Given the description of an element on the screen output the (x, y) to click on. 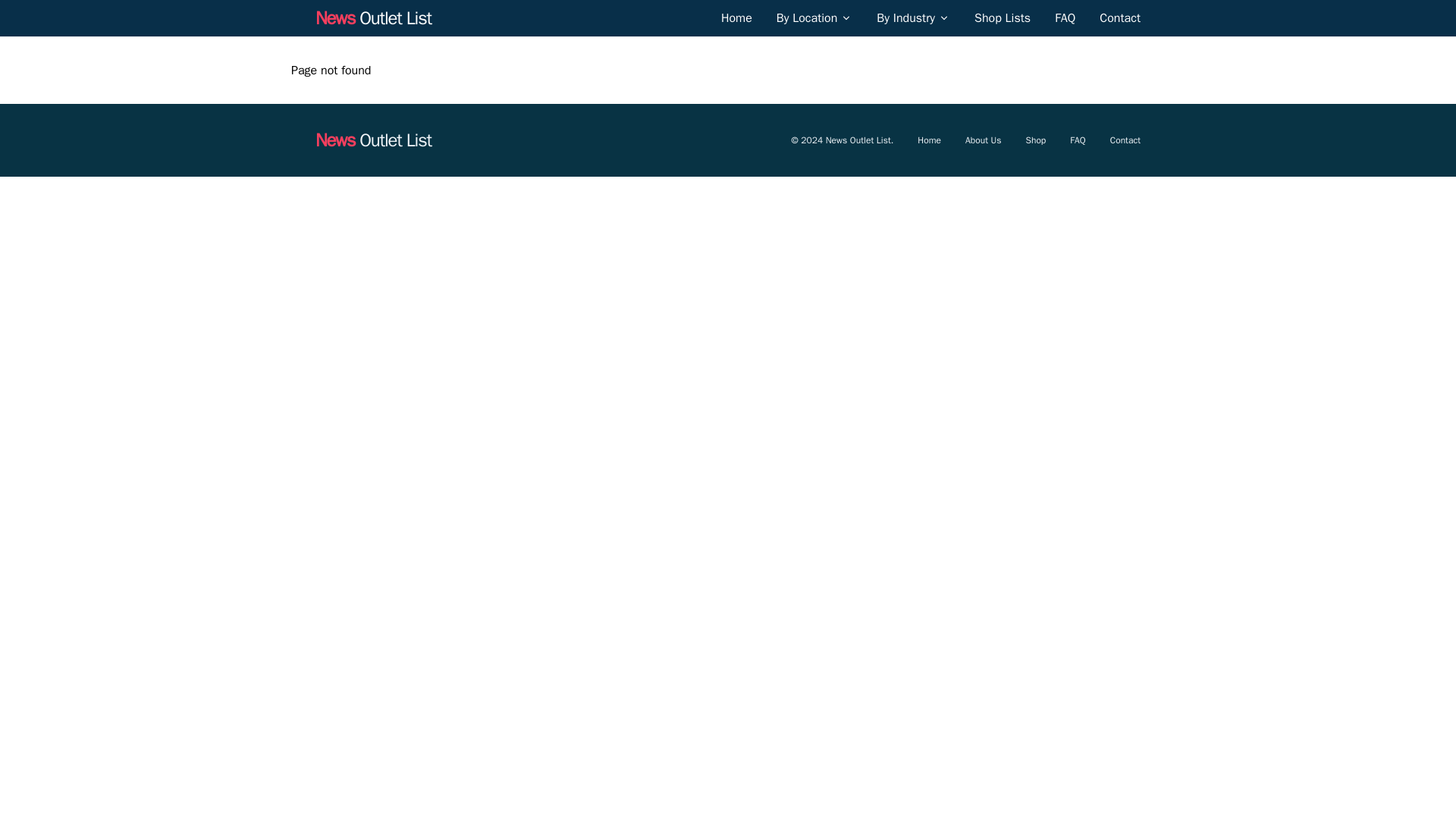
By Location (807, 18)
Contact (1119, 18)
Shop Lists (1002, 18)
By Location (814, 18)
By Industry (905, 18)
Home (736, 18)
By Industry (913, 18)
FAQ (1064, 18)
News Outlet List (372, 17)
